Given the description of an element on the screen output the (x, y) to click on. 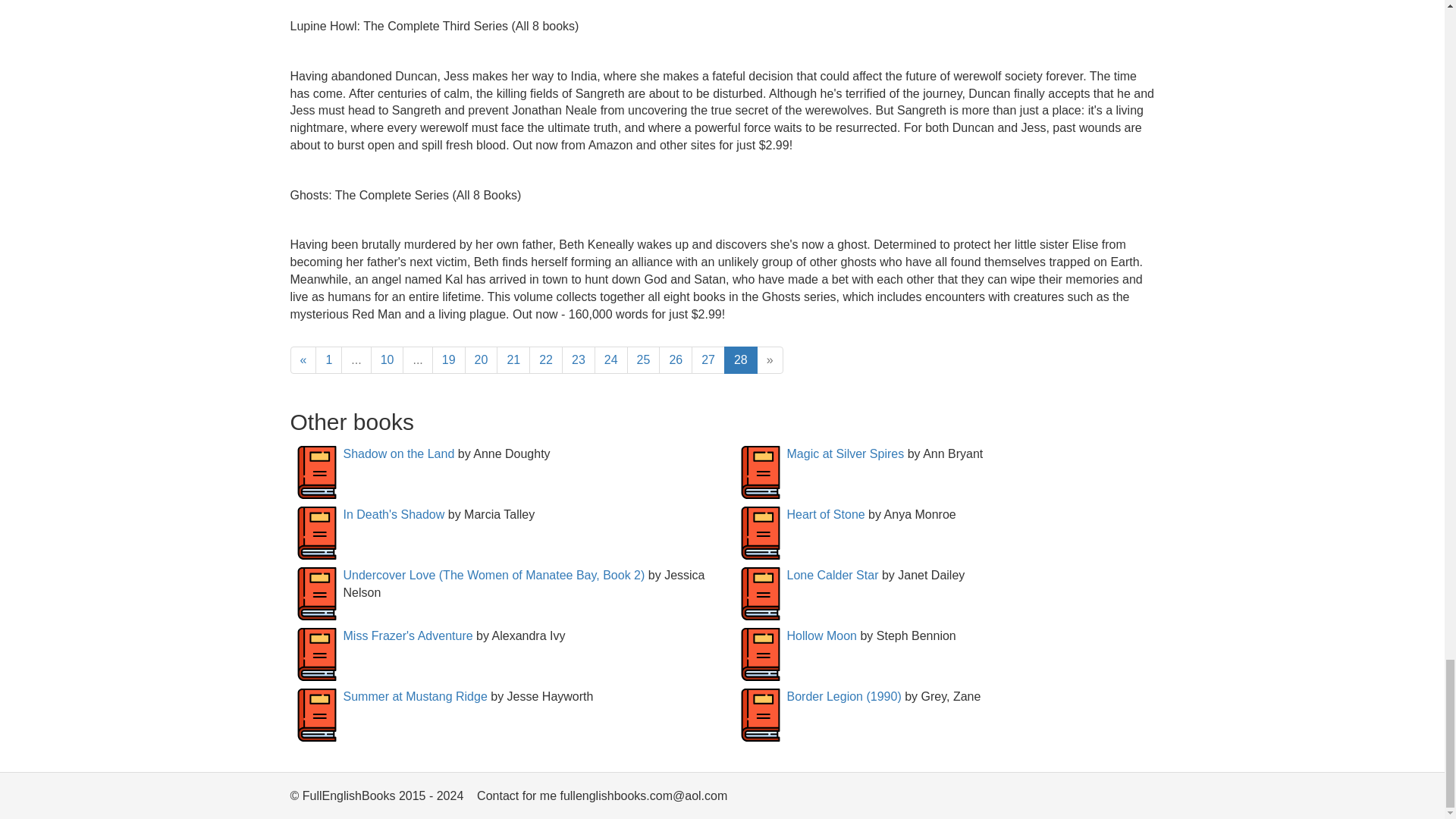
10 (387, 360)
1 (328, 360)
LiveInternet (1142, 799)
Shadow on the Land (398, 453)
In Death's Shadow (393, 513)
24 (610, 360)
27 (708, 360)
Heart of Stone (825, 513)
25 (644, 360)
21 (512, 360)
Magic at Silver Spires (845, 453)
19 (448, 360)
28 (740, 360)
23 (578, 360)
22 (545, 360)
